Given the description of an element on the screen output the (x, y) to click on. 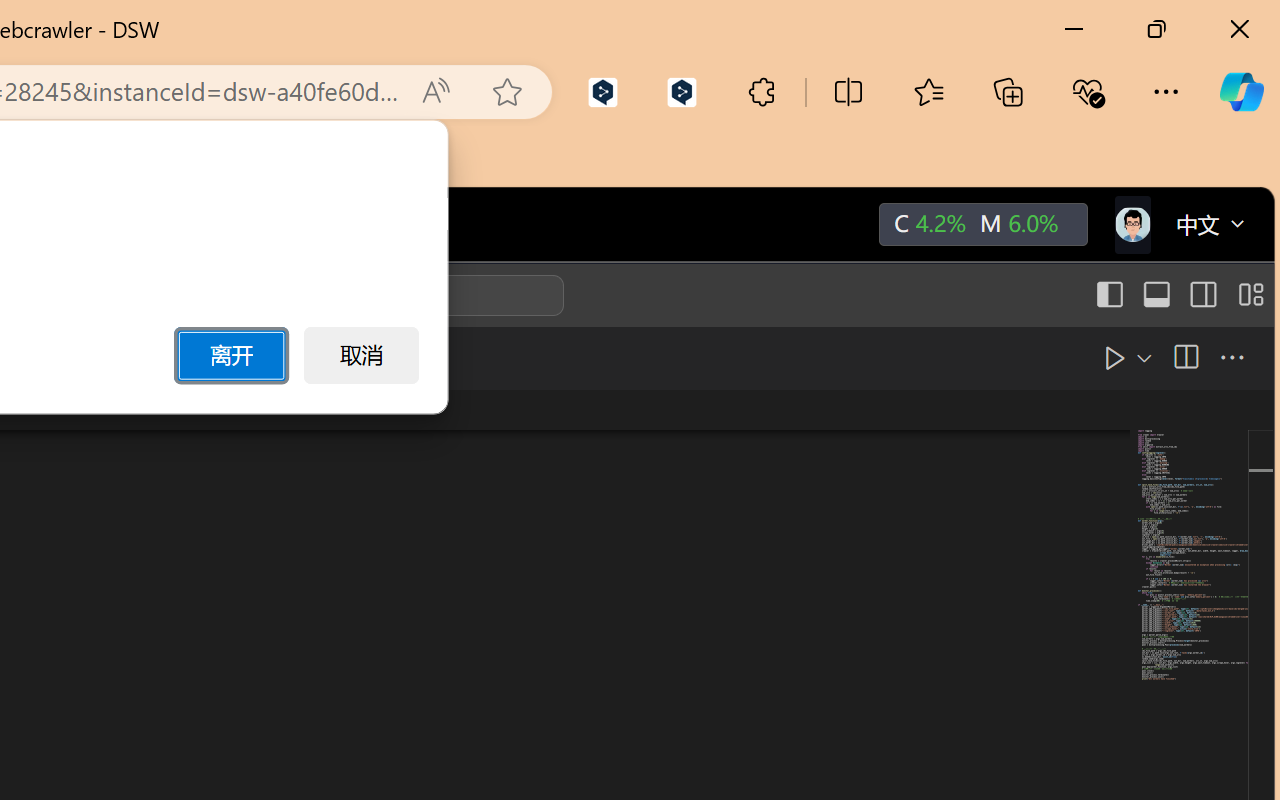
C4.2% M6.0% (981, 225)
More Actions... (1230, 357)
Open Changes (1137, 357)
Customize Layout... (1248, 295)
Copilot (Ctrl+Shift+.) (1241, 91)
Toggle Panel (Ctrl+J) (1155, 295)
Run or Debug... (1096, 357)
icon (1131, 224)
icon (1131, 220)
